Given the description of an element on the screen output the (x, y) to click on. 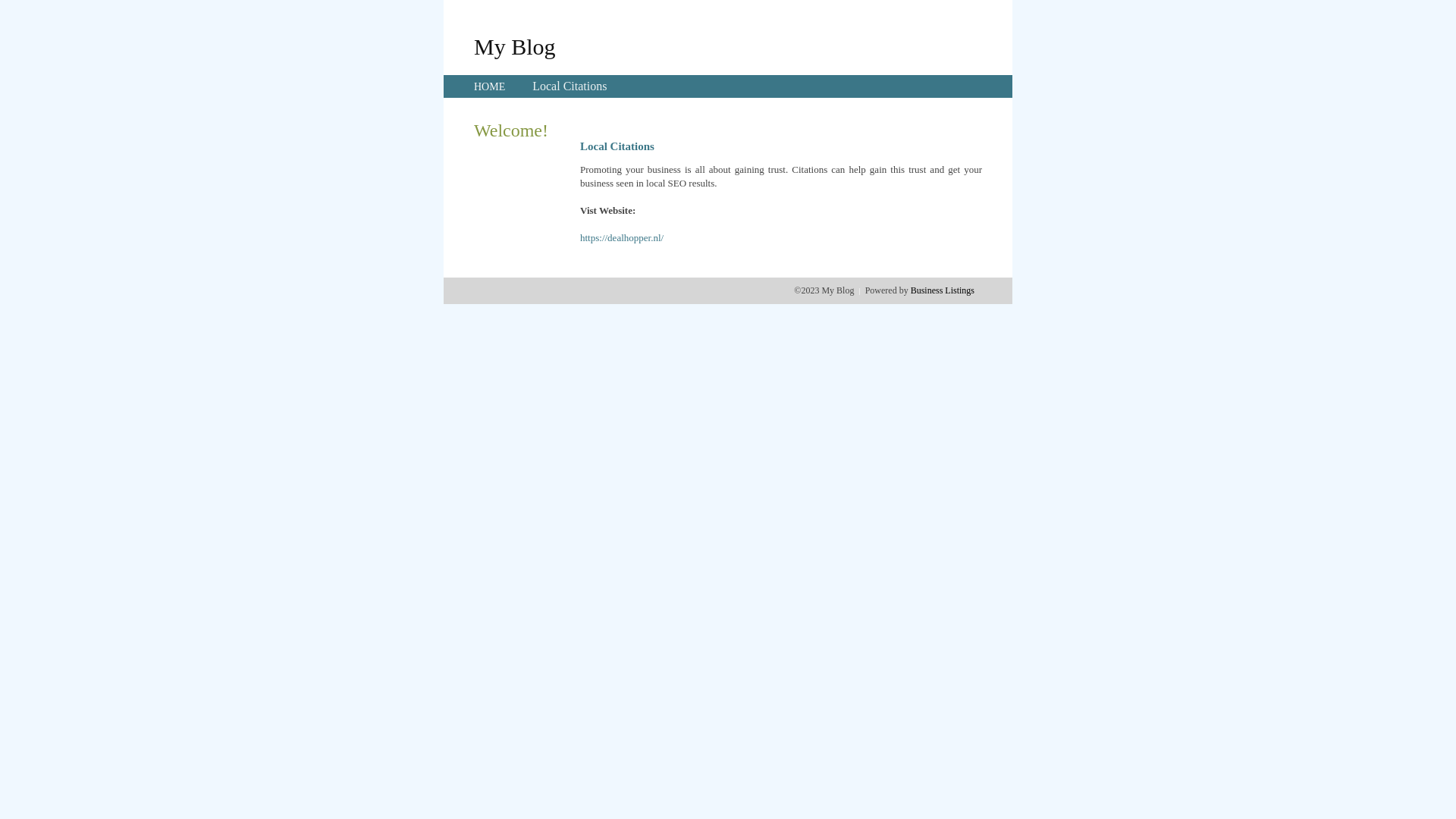
My Blog Element type: text (514, 46)
https://dealhopper.nl/ Element type: text (621, 237)
Business Listings Element type: text (942, 290)
HOME Element type: text (489, 86)
Local Citations Element type: text (569, 85)
